Given the description of an element on the screen output the (x, y) to click on. 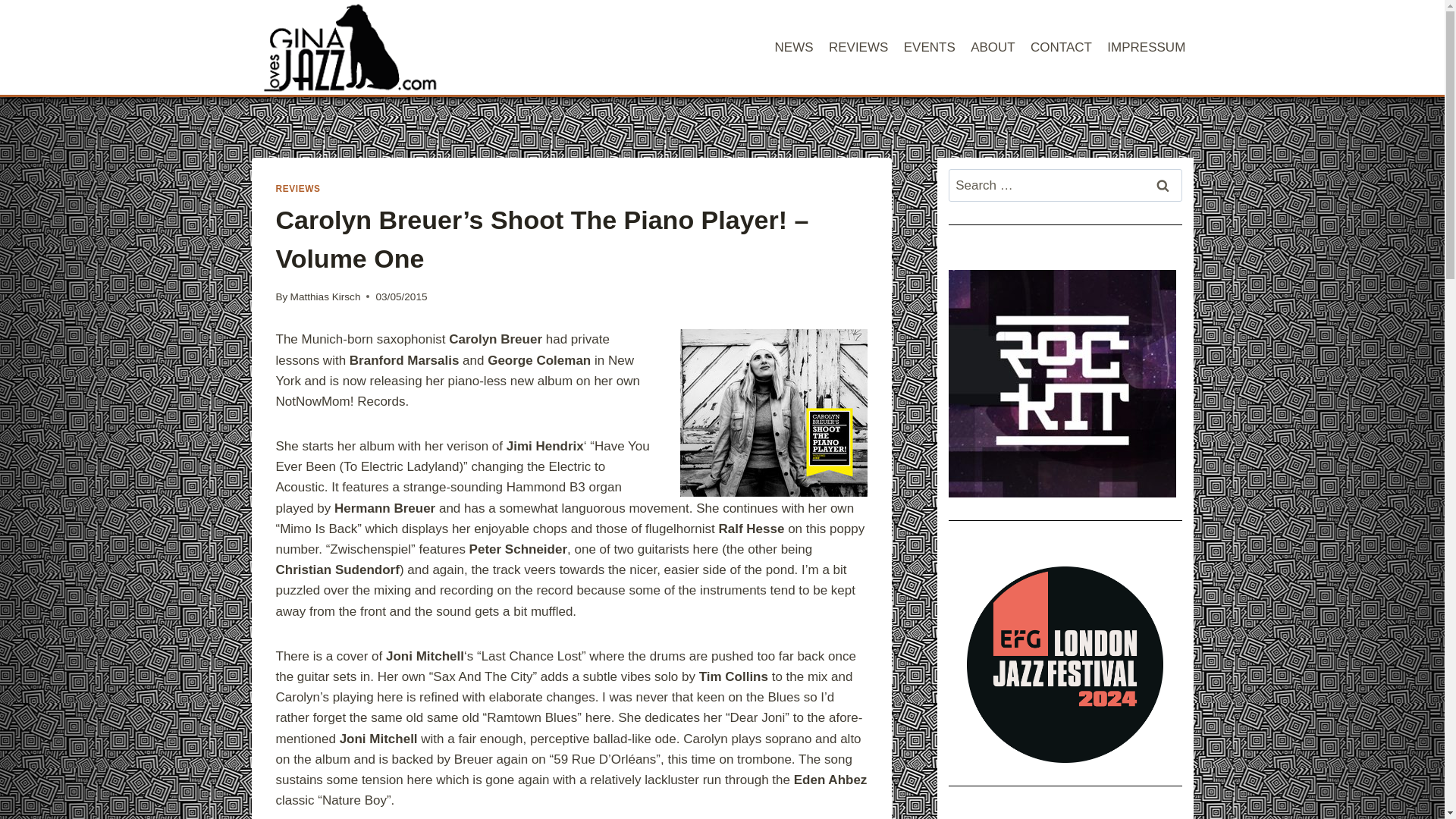
ABOUT (992, 47)
CONTACT (1061, 47)
REVIEWS (298, 188)
NEWS (794, 47)
REVIEWS (858, 47)
Search (1161, 184)
EVENTS (929, 47)
IMPRESSUM (1145, 47)
Matthias Kirsch (325, 296)
Search (1161, 184)
